Given the description of an element on the screen output the (x, y) to click on. 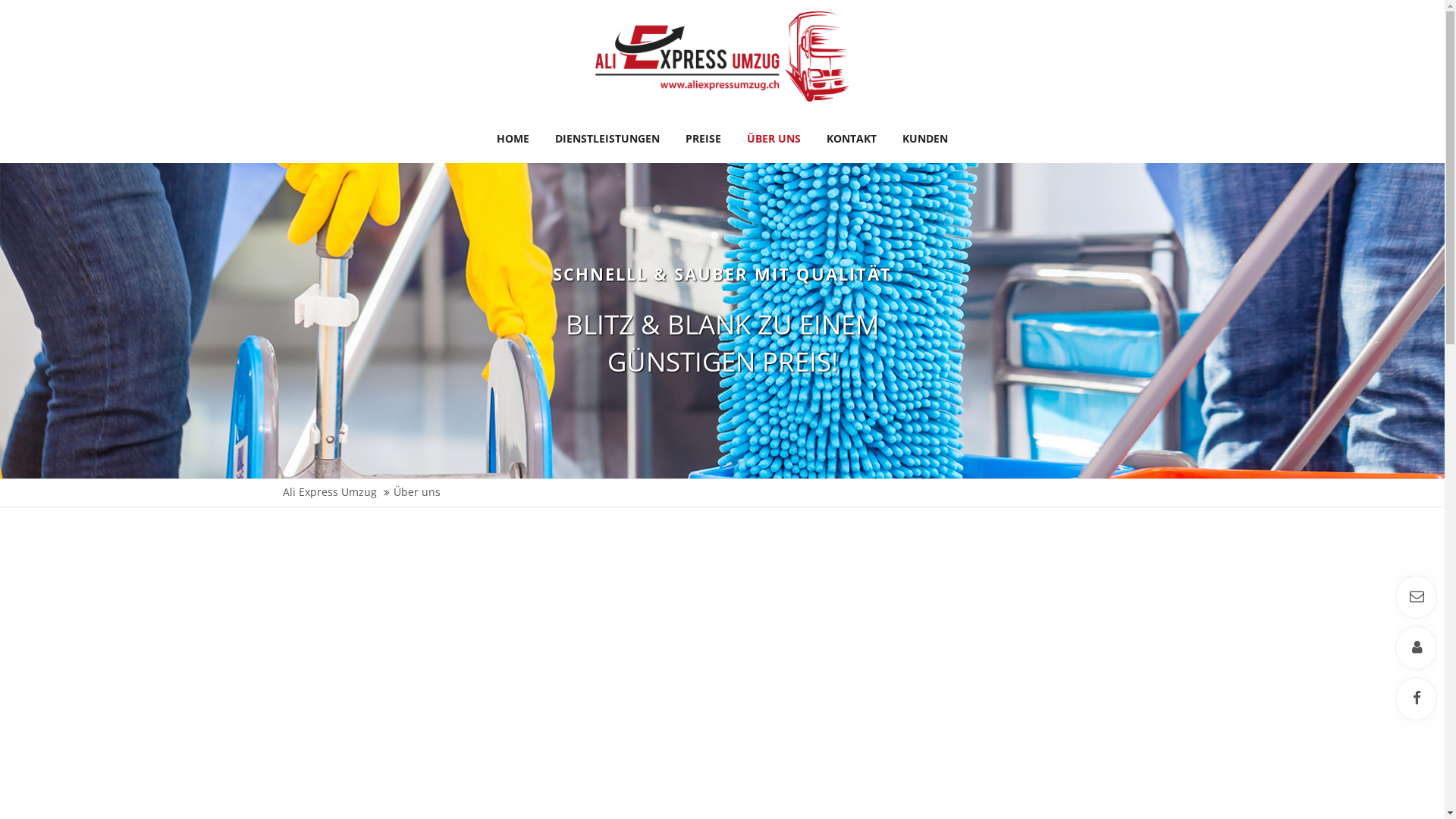
Request this Property Element type: hover (1416, 596)
KUNDEN Element type: text (924, 138)
HOME Element type: text (512, 138)
KONTAKT Element type: text (851, 138)
DIENSTLEISTUNGEN Element type: text (607, 138)
Follow us on Facebook Element type: hover (1416, 698)
Contact Us Element type: hover (1416, 647)
PREISE Element type: text (703, 138)
Ali Express Umzug Element type: text (329, 491)
